Given the description of an element on the screen output the (x, y) to click on. 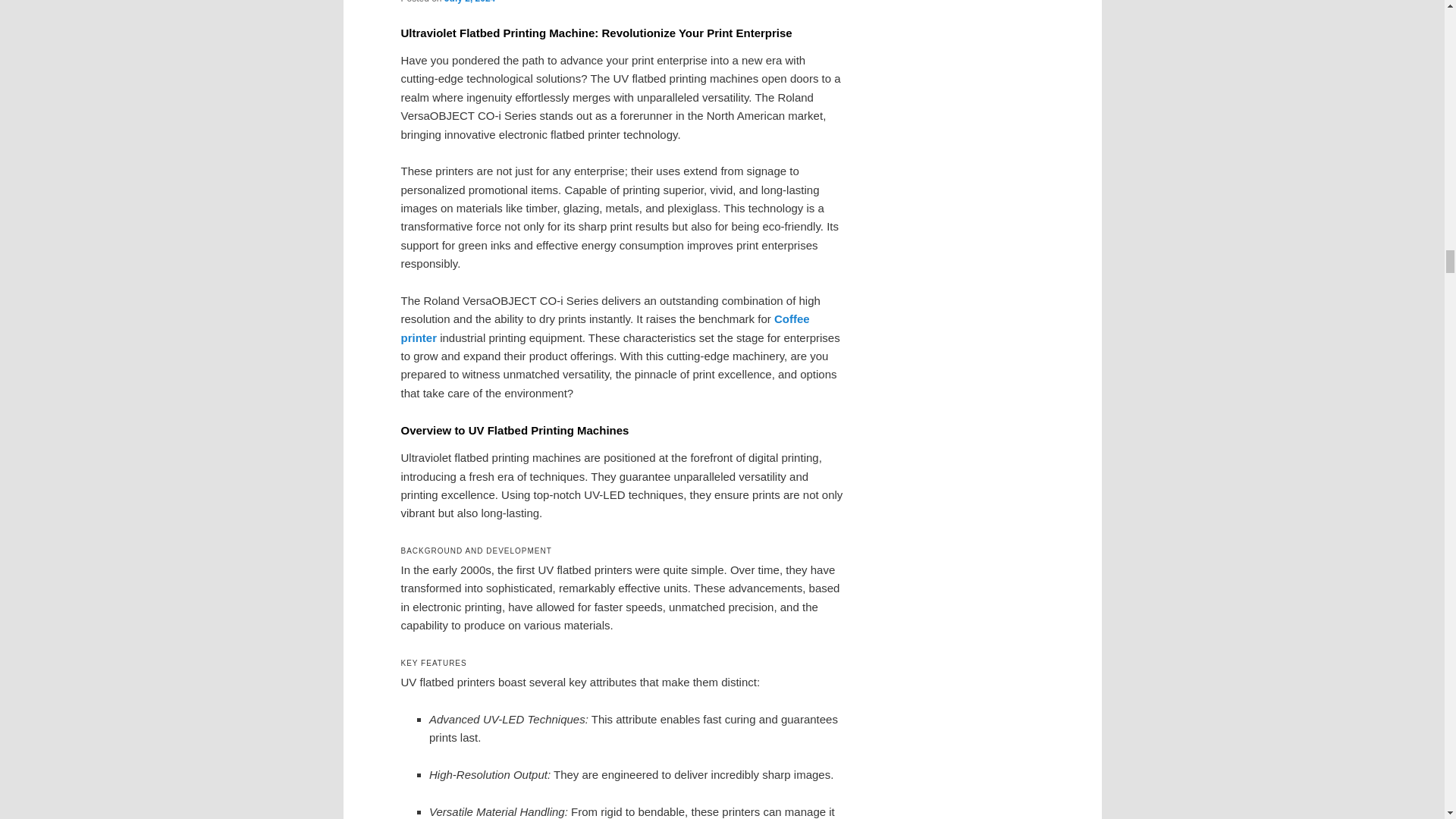
Coffee printer (604, 327)
8:17 am (469, 2)
July 2, 2024 (469, 2)
